Given the description of an element on the screen output the (x, y) to click on. 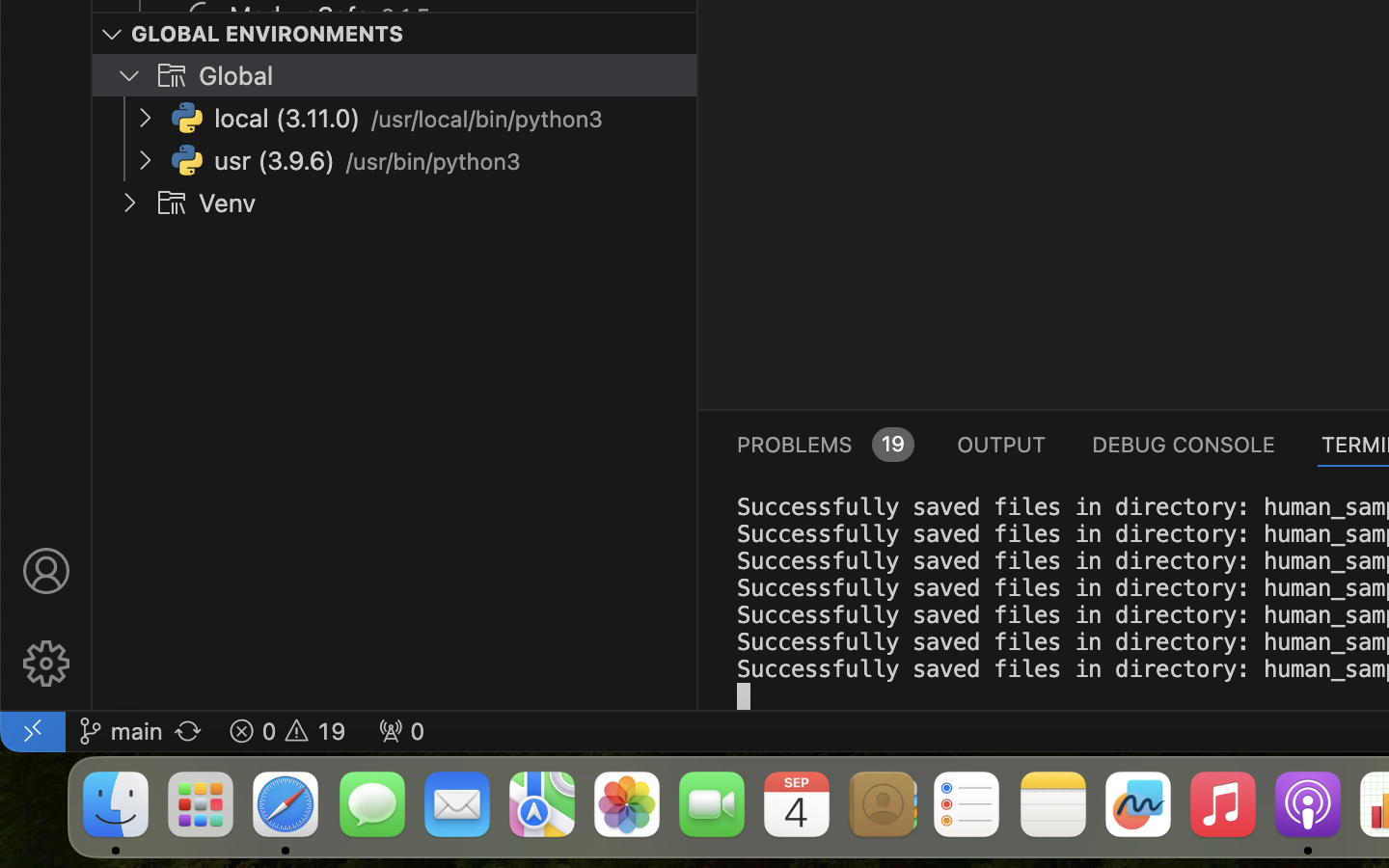
 Element type: AXGroup (46, 663)
 Element type: AXStaticText (111, 34)
local (3.11.0) Element type: AXStaticText (287, 118)
Venv Element type: AXStaticText (227, 203)
Global Element type: AXStaticText (235, 75)
